Given the description of an element on the screen output the (x, y) to click on. 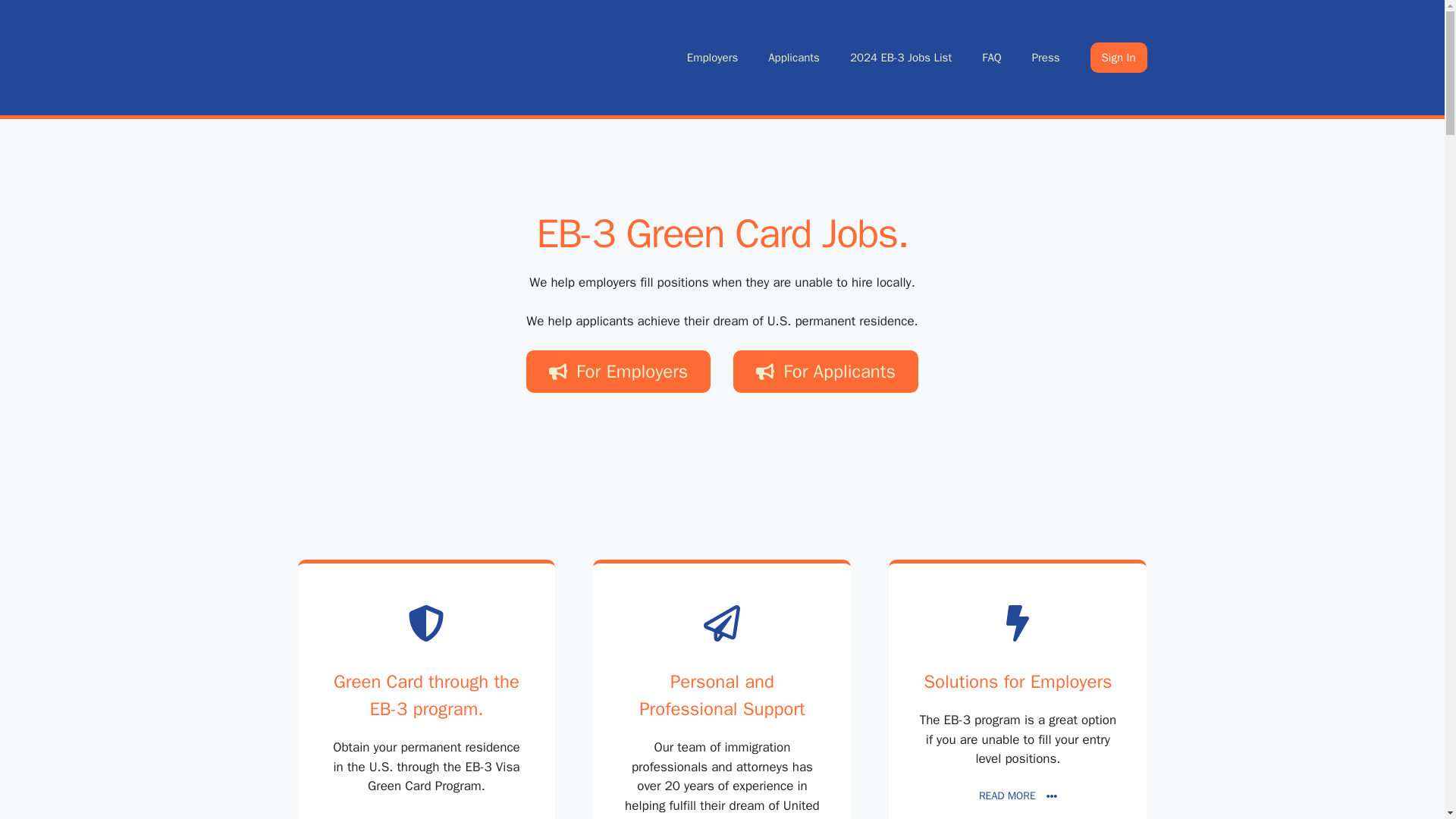
For Applicants (825, 371)
Press (1045, 57)
Sign In (1118, 57)
FAQ (991, 57)
2024 EB-3 Jobs List (900, 57)
READ MORE (426, 816)
Employers (711, 57)
Applicants (793, 57)
For Employers (617, 371)
READ MORE (1017, 795)
